Given the description of an element on the screen output the (x, y) to click on. 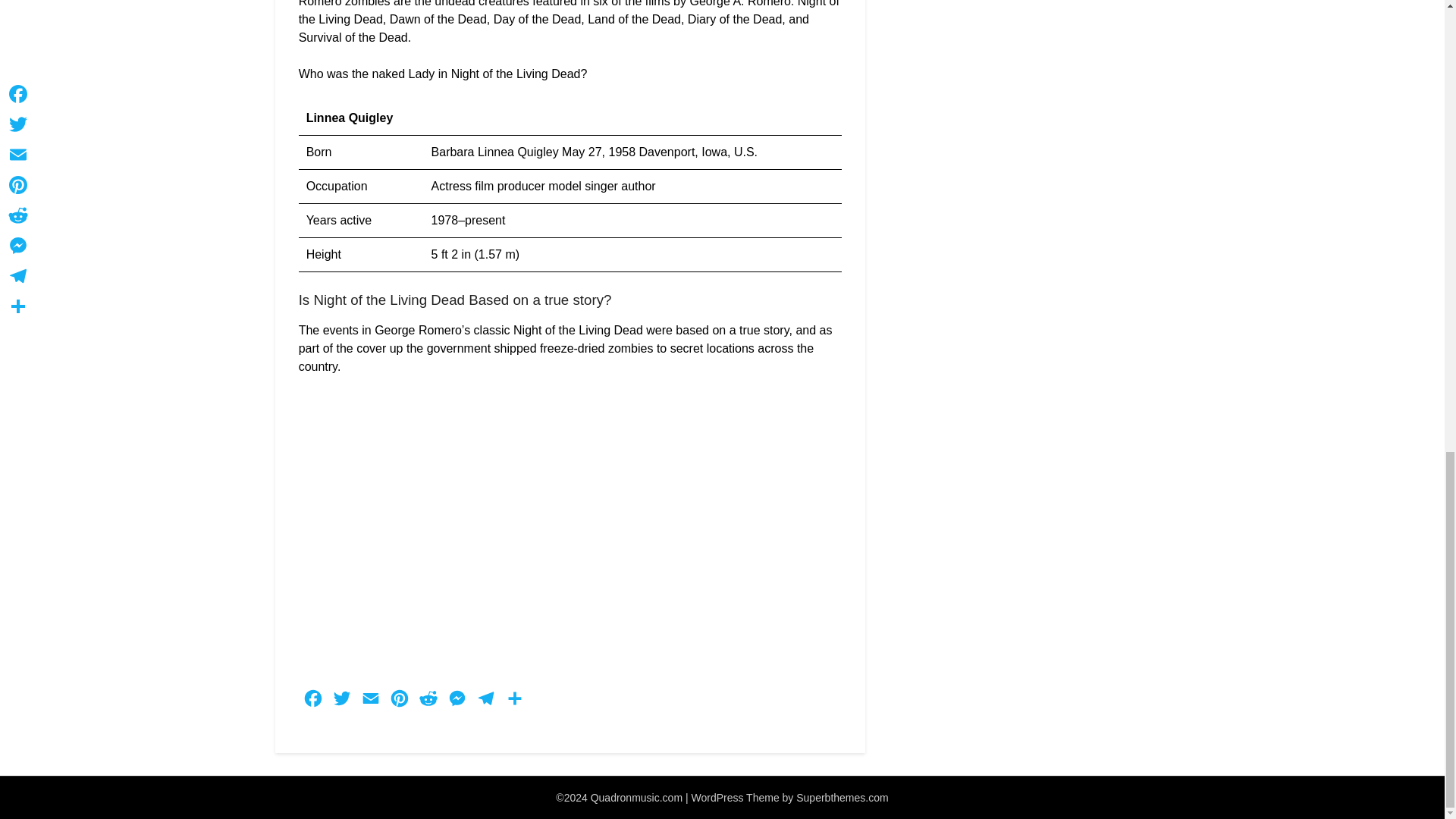
Pinterest (399, 702)
Messenger (456, 702)
Share (514, 702)
Facebook (312, 702)
Facebook (312, 702)
Reddit (427, 702)
Pinterest (399, 702)
Email (370, 702)
Twitter (341, 702)
Telegram (485, 702)
Twitter (341, 702)
Reddit (427, 702)
Superbthemes.com (842, 797)
Messenger (456, 702)
Email (370, 702)
